Given the description of an element on the screen output the (x, y) to click on. 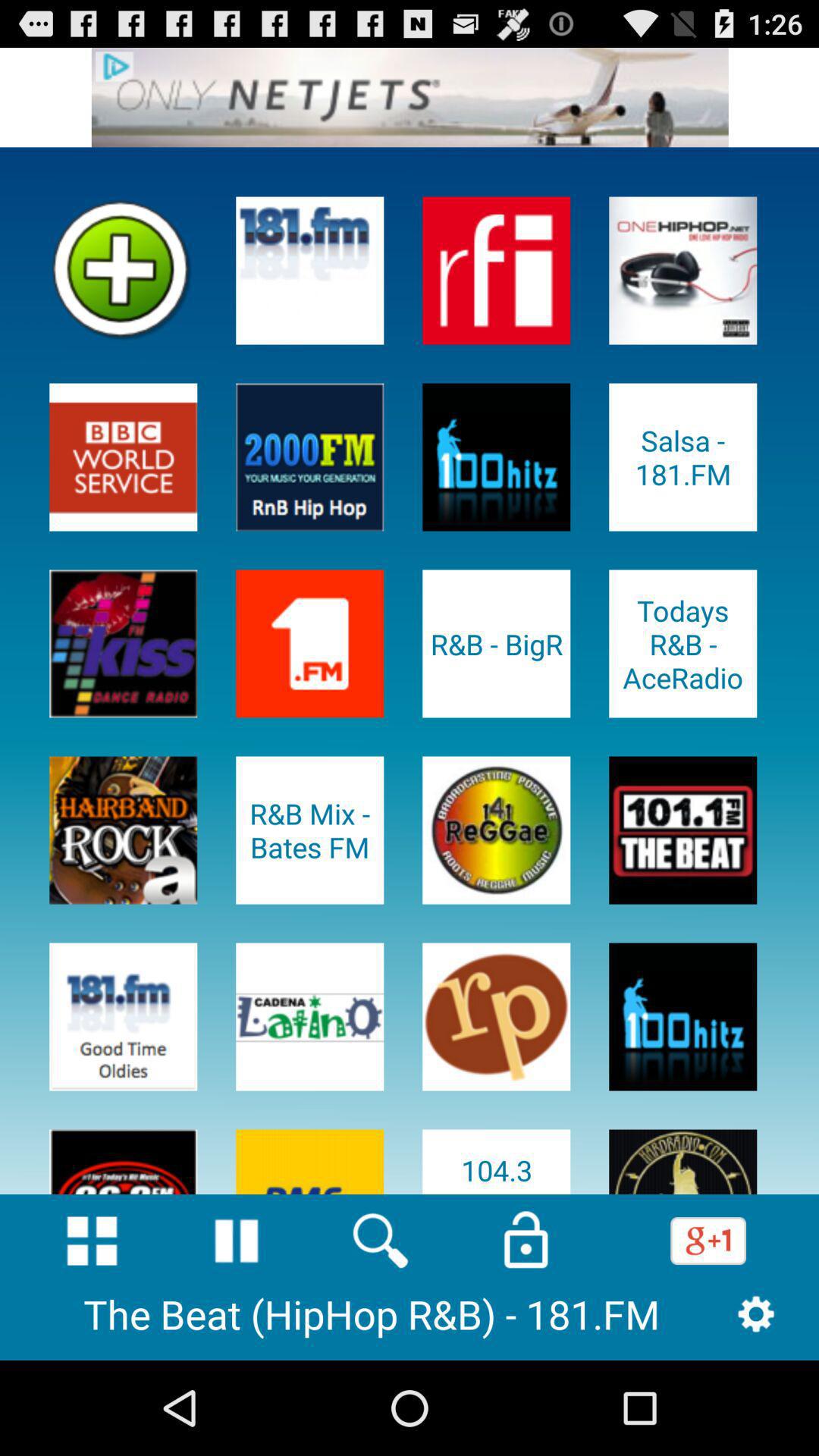
home (91, 1240)
